Given the description of an element on the screen output the (x, y) to click on. 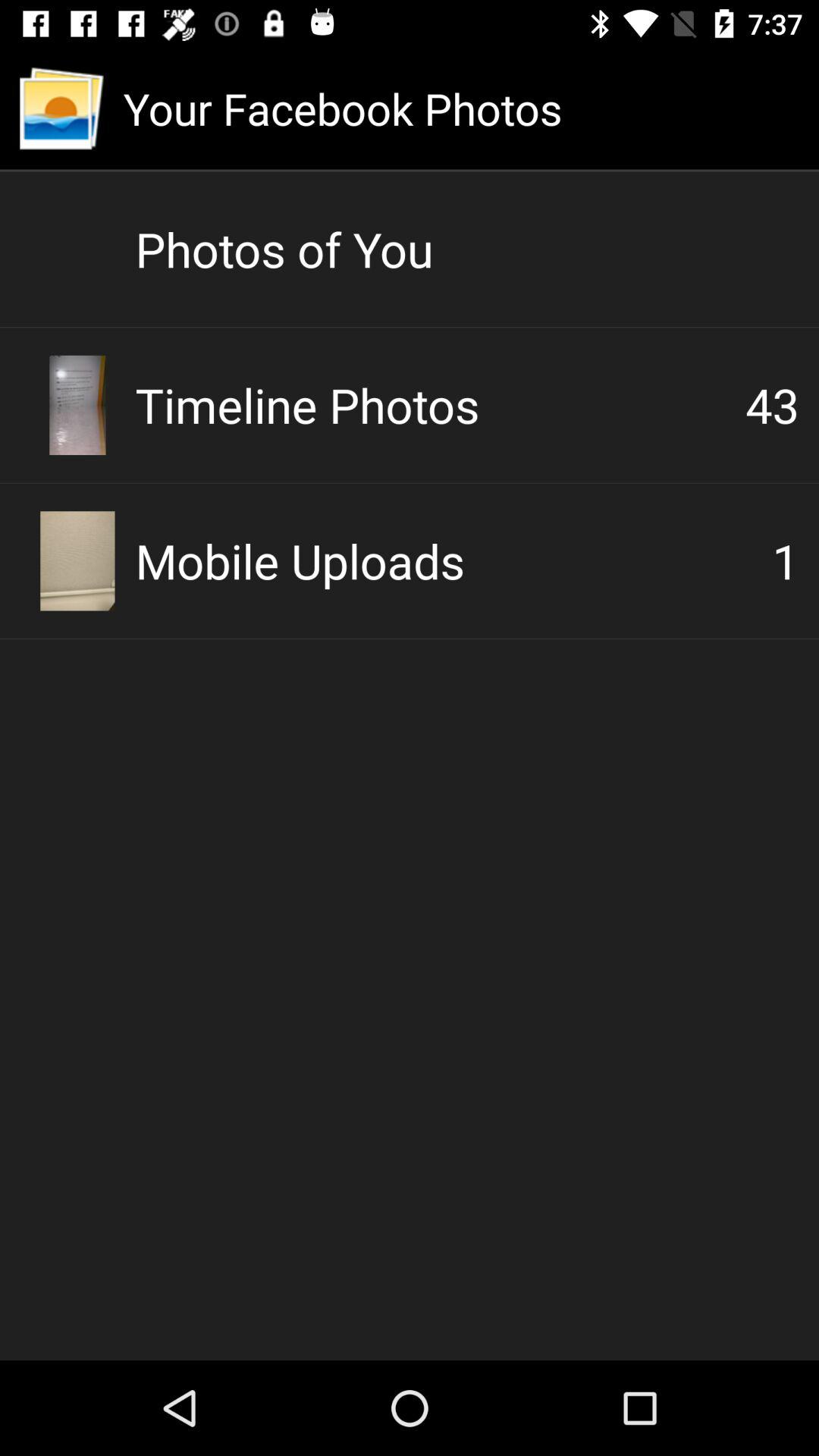
swipe to the 43 item (772, 404)
